Given the description of an element on the screen output the (x, y) to click on. 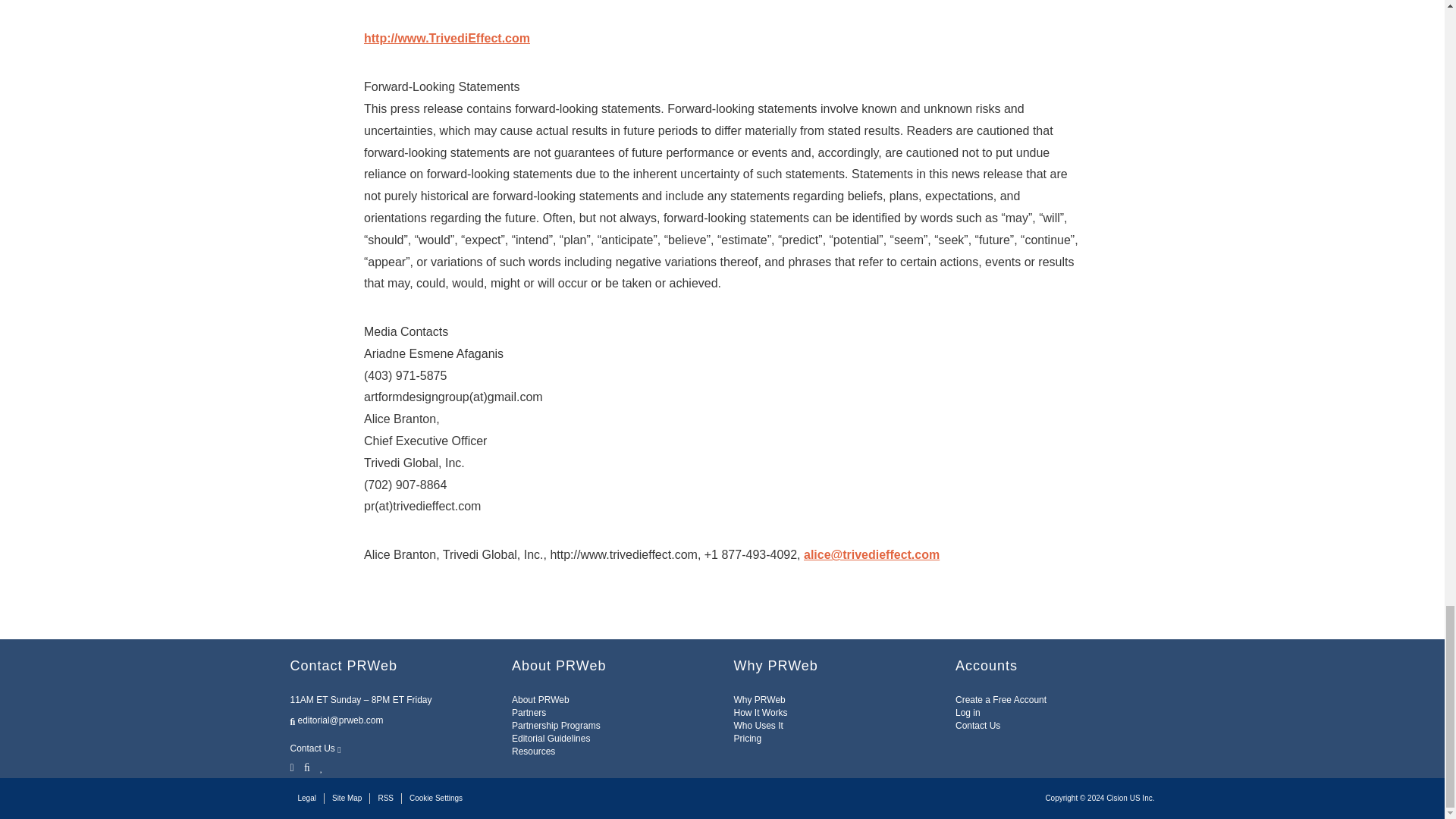
About PRWeb (540, 699)
Editorial Guidelines (550, 738)
Facebook (306, 766)
Partners (529, 712)
Resources (533, 751)
Partnership Programs (555, 725)
